Given the description of an element on the screen output the (x, y) to click on. 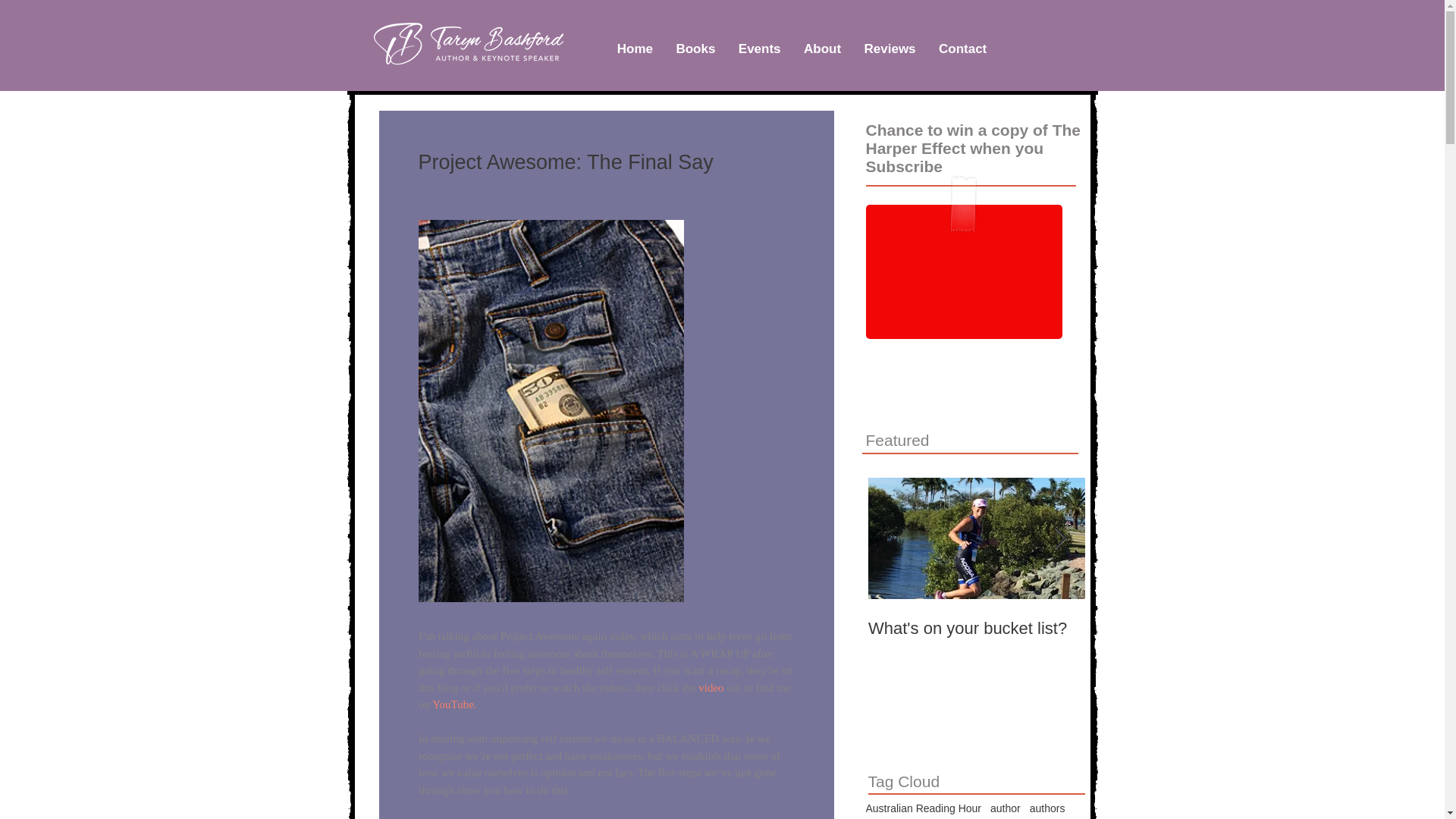
Contact (962, 49)
Home (634, 49)
YouTube. (454, 705)
author (1005, 808)
Need A Literary Agent? Just Add Water. (1192, 638)
Australian Reading Hour (923, 808)
About (822, 49)
What's on your bucket list? (975, 628)
video  (712, 687)
Reviews (889, 49)
authors (1047, 808)
Events (759, 49)
